Given the description of an element on the screen output the (x, y) to click on. 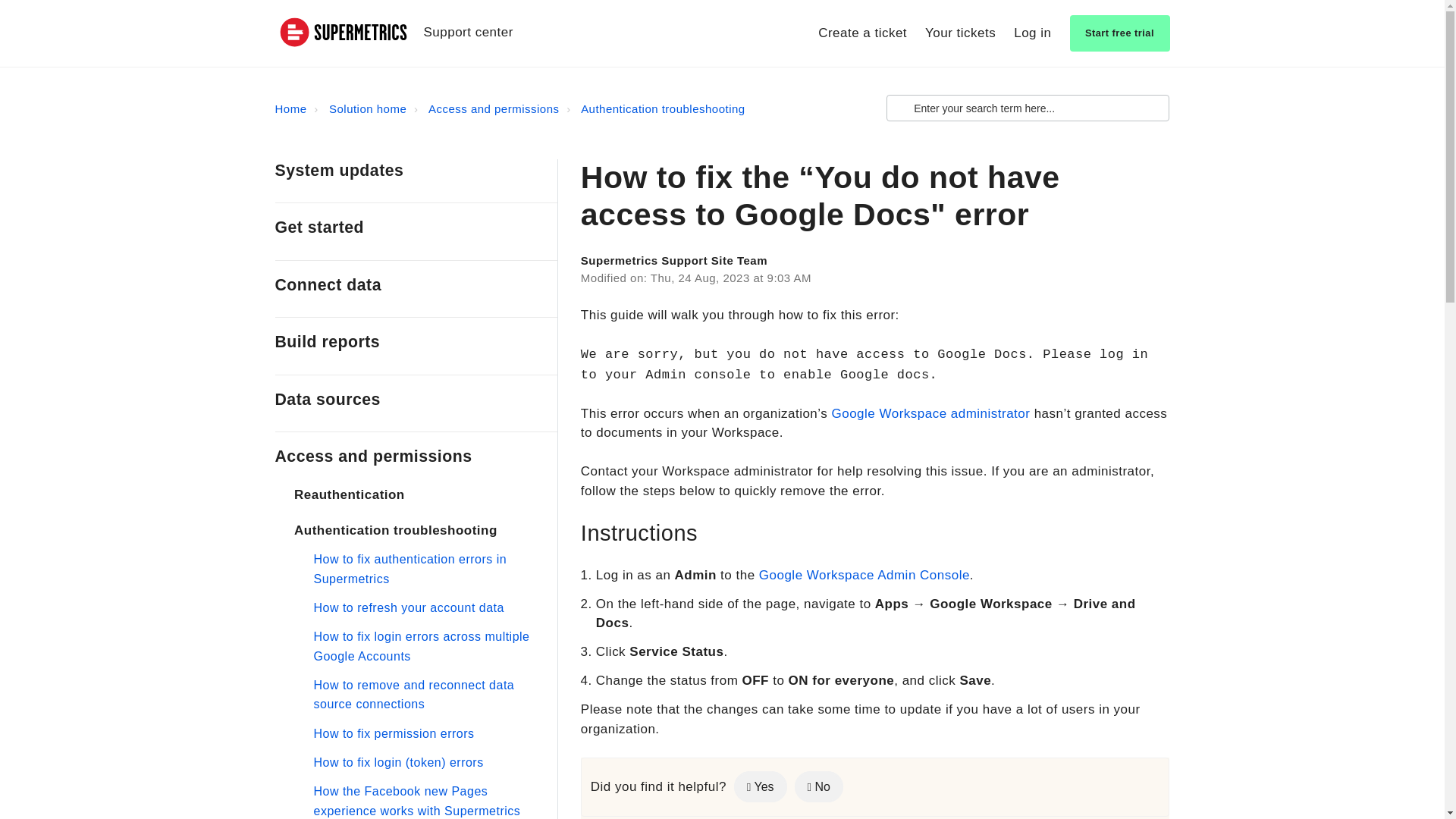
Solution home (358, 108)
Authentication troubleshooting (662, 108)
Access and permissions (493, 108)
Authentication troubleshooting (653, 108)
Start free trial (1118, 33)
Solution home (367, 108)
Home (290, 108)
Create a ticket (862, 33)
Your tickets (959, 33)
Log in (1032, 32)
Access and permissions (484, 108)
